Given the description of an element on the screen output the (x, y) to click on. 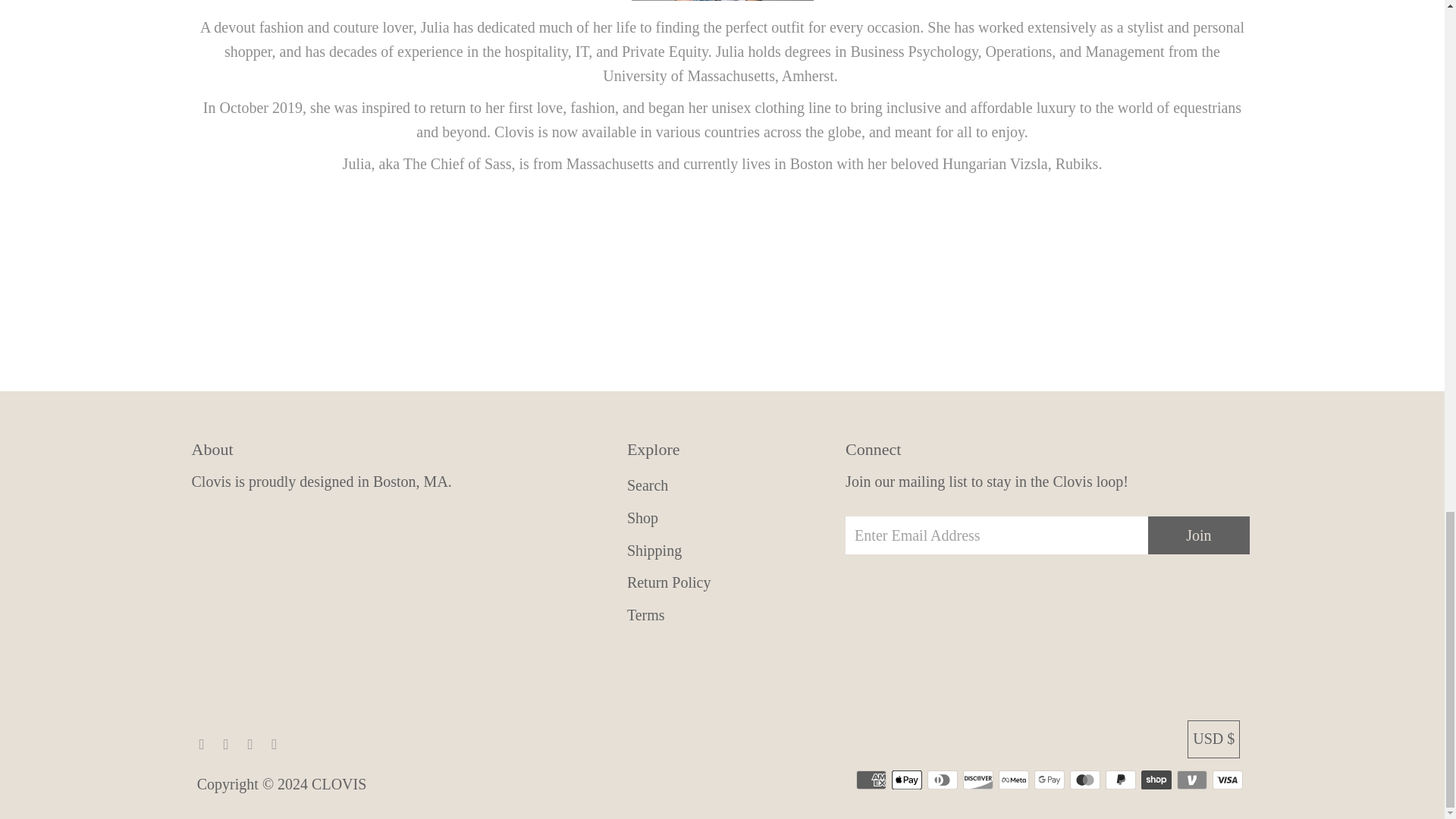
Shop Pay (1156, 779)
American Express (871, 779)
PayPal (1120, 779)
Diners Club (942, 779)
Join (1198, 535)
Apple Pay (906, 779)
Visa (1227, 779)
Meta Pay (1013, 779)
Venmo (1191, 779)
Google Pay (1048, 779)
